Given the description of an element on the screen output the (x, y) to click on. 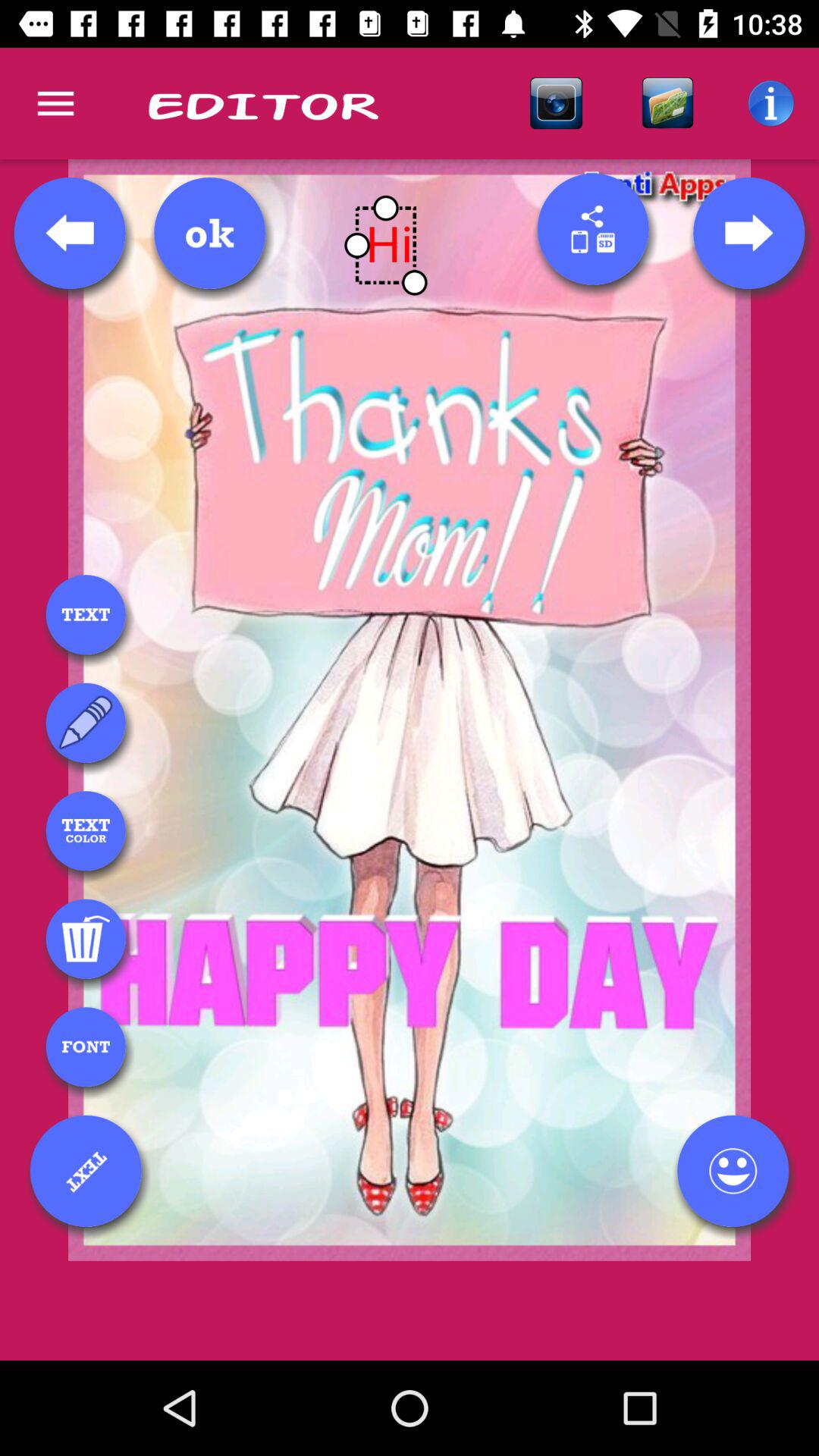
press item next to the editor (555, 103)
